Given the description of an element on the screen output the (x, y) to click on. 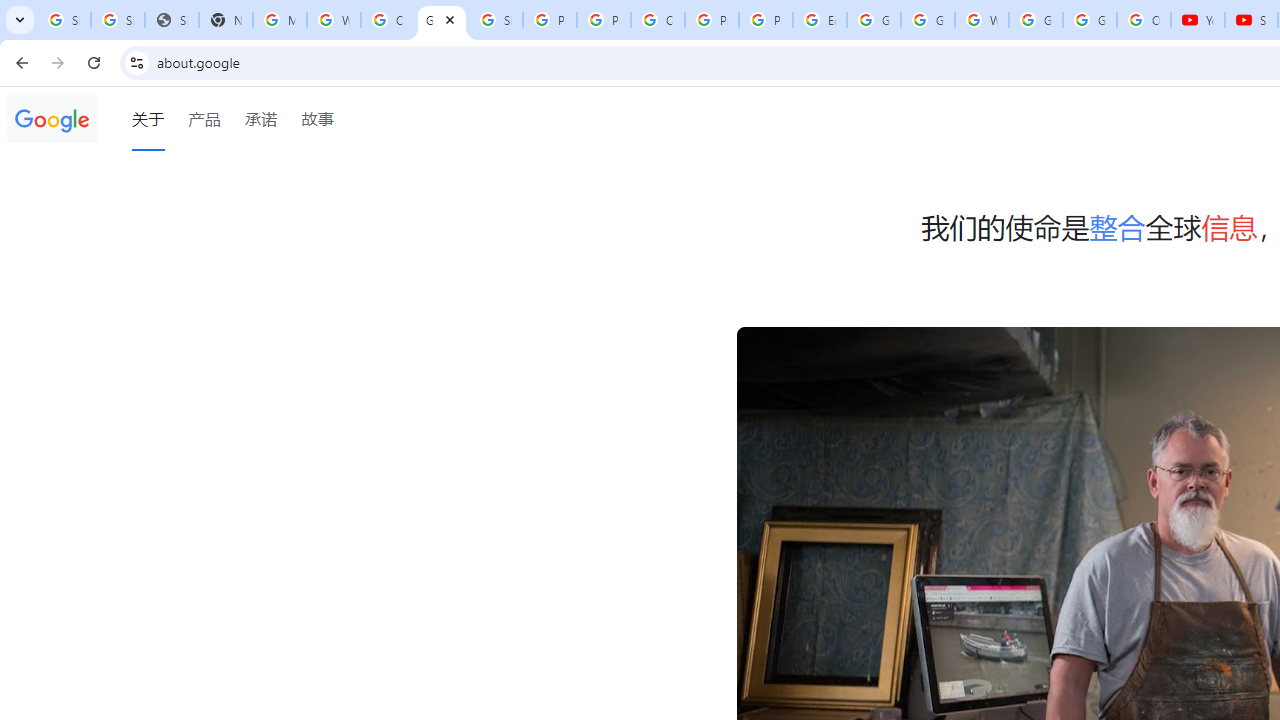
Search tabs (20, 20)
Welcome to My Activity (981, 20)
Sign In - USA TODAY (171, 20)
Google Account (1089, 20)
Sign in - Google Accounts (495, 20)
New Tab (225, 20)
